Given the description of an element on the screen output the (x, y) to click on. 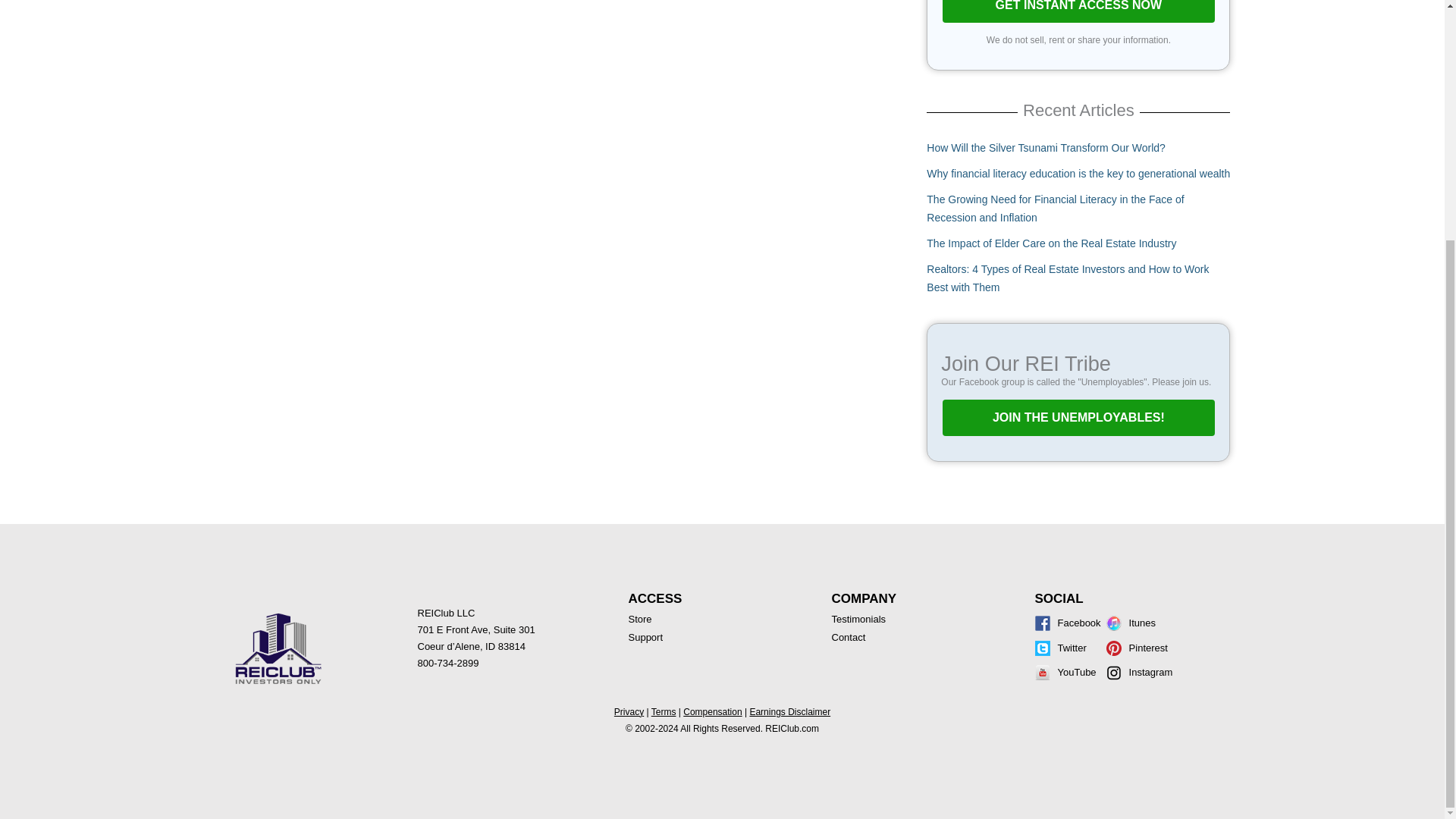
Get Instant Access Now (1078, 11)
Join The Unemployables! (1078, 417)
